Given the description of an element on the screen output the (x, y) to click on. 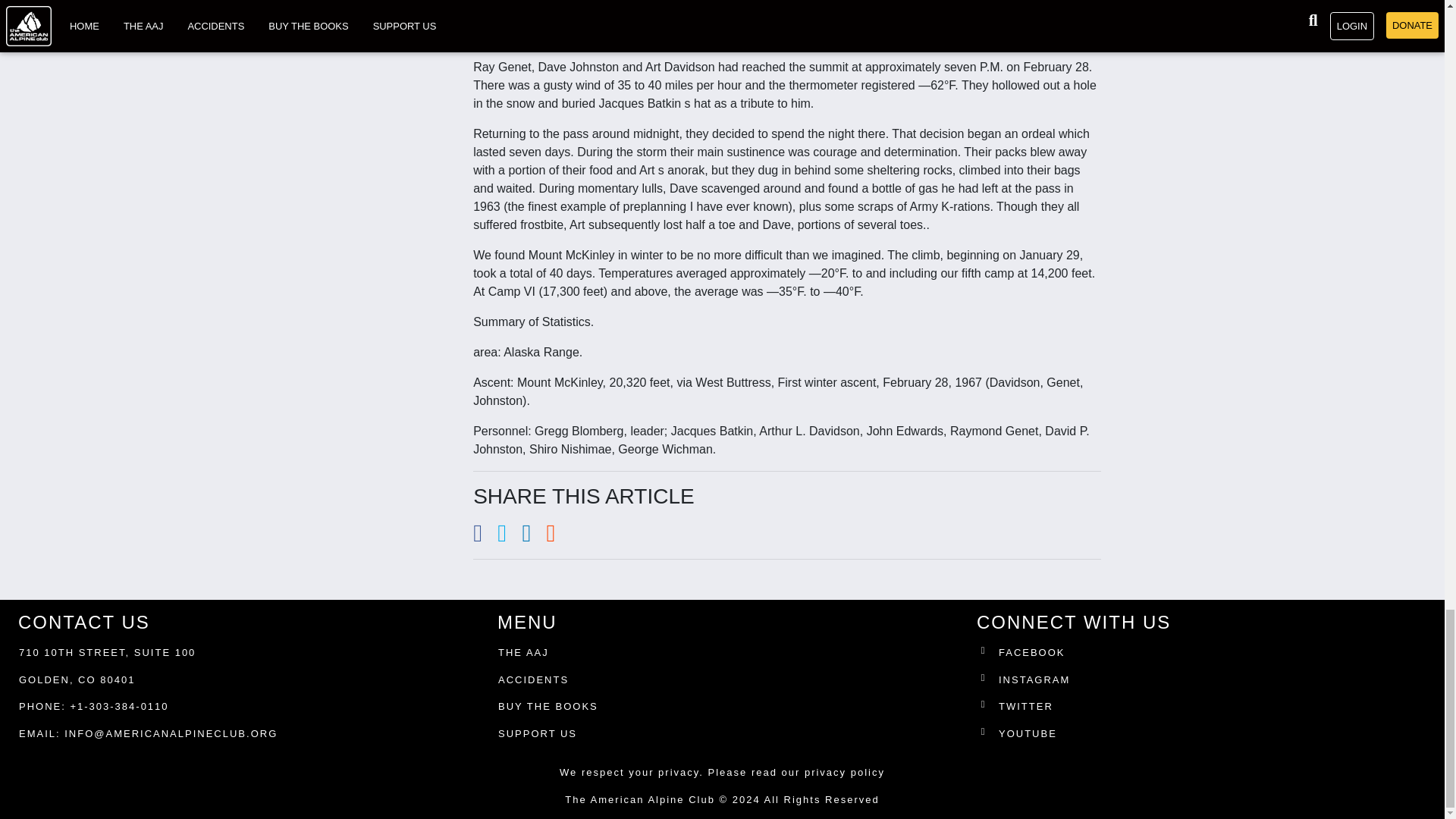
We respect your privacy. Please read our privacy policy (722, 772)
Share to Reddit (557, 536)
Share to Facebook (485, 536)
The American Alpine Club (639, 799)
FACEBOOK (1204, 655)
INSTAGRAM (1204, 682)
THE AAJ (522, 652)
BUY THE BOOKS (547, 706)
Share to Twitter (509, 536)
ACCIDENTS (533, 679)
YOUTUBE (1204, 736)
Share to LinkedIn (533, 536)
TWITTER (1204, 709)
SUPPORT US (536, 734)
